Given the description of an element on the screen output the (x, y) to click on. 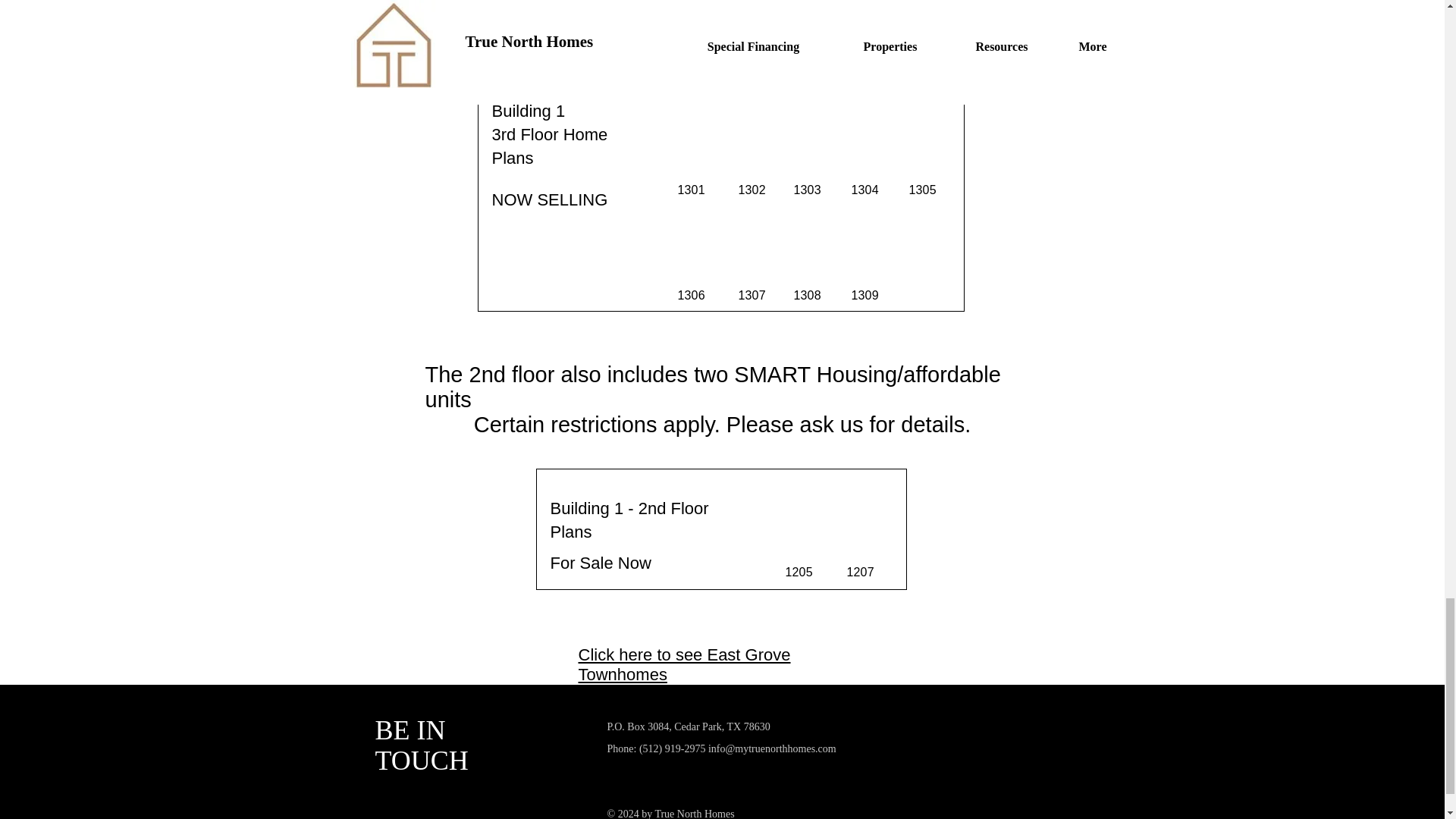
EG 1207 Floor Plan.pdf (862, 504)
Click here to see East Grove Townhomes (684, 664)
EG 1303 Floor Plan.pdf (809, 128)
EG 1307 Floor Plan.pdf (753, 260)
EG 1301 Floor Plan.pdf (692, 128)
EG 1308 Floor Plan.pdf (809, 260)
EG 1302 Floor Plan.pdf (753, 128)
EG 1309 Floor Plan.pdf (866, 260)
EG 1205 Floor Plan.pdf (800, 504)
EG 1304 Floor Plan.pdf (866, 128)
EG 1306 Floor Plan.pdf (692, 260)
EG 1305 Floor Plan.pdf (924, 128)
